Given the description of an element on the screen output the (x, y) to click on. 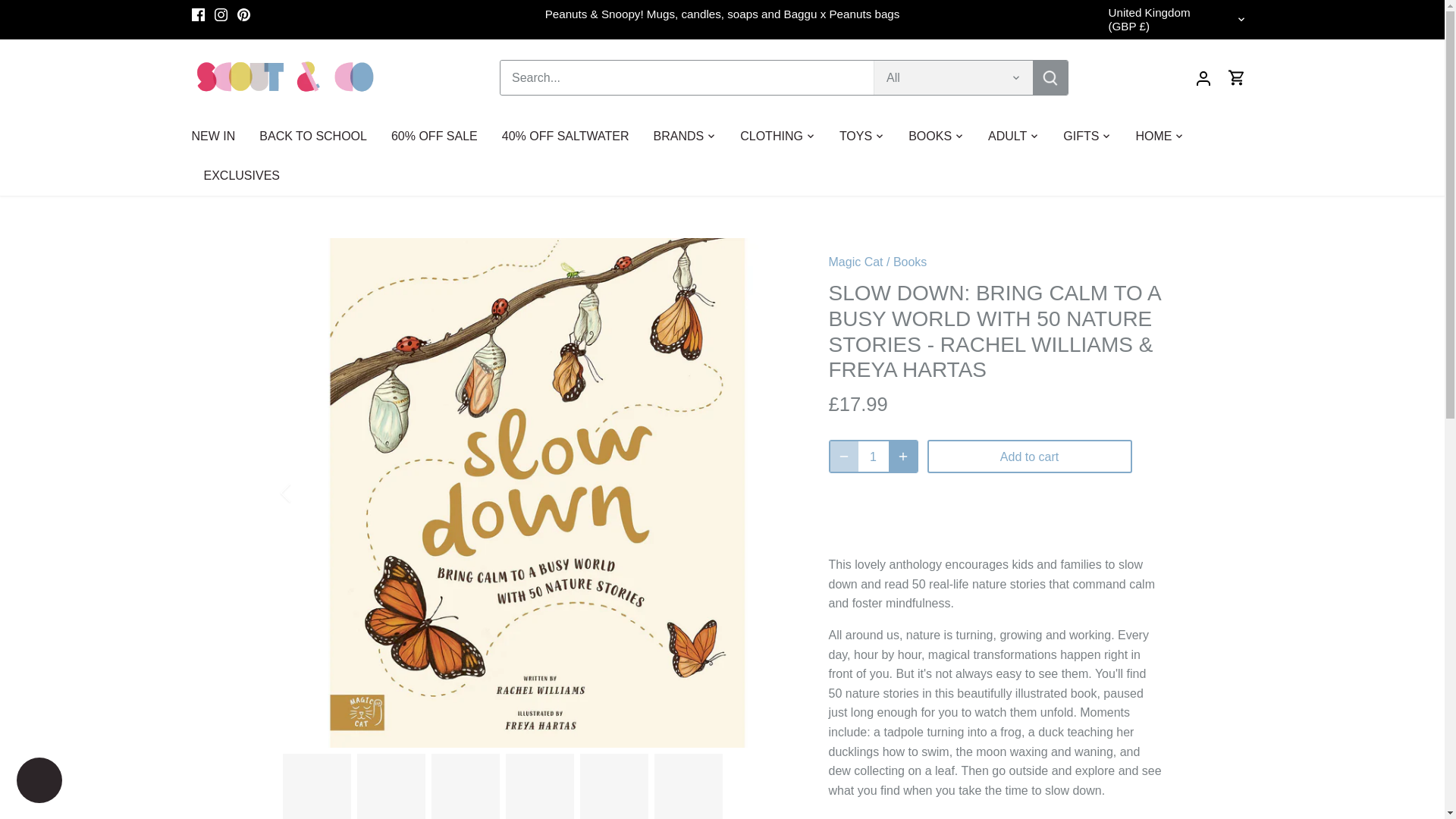
1 (873, 456)
Facebook (196, 14)
Pinterest (243, 14)
Instagram (220, 14)
